Given the description of an element on the screen output the (x, y) to click on. 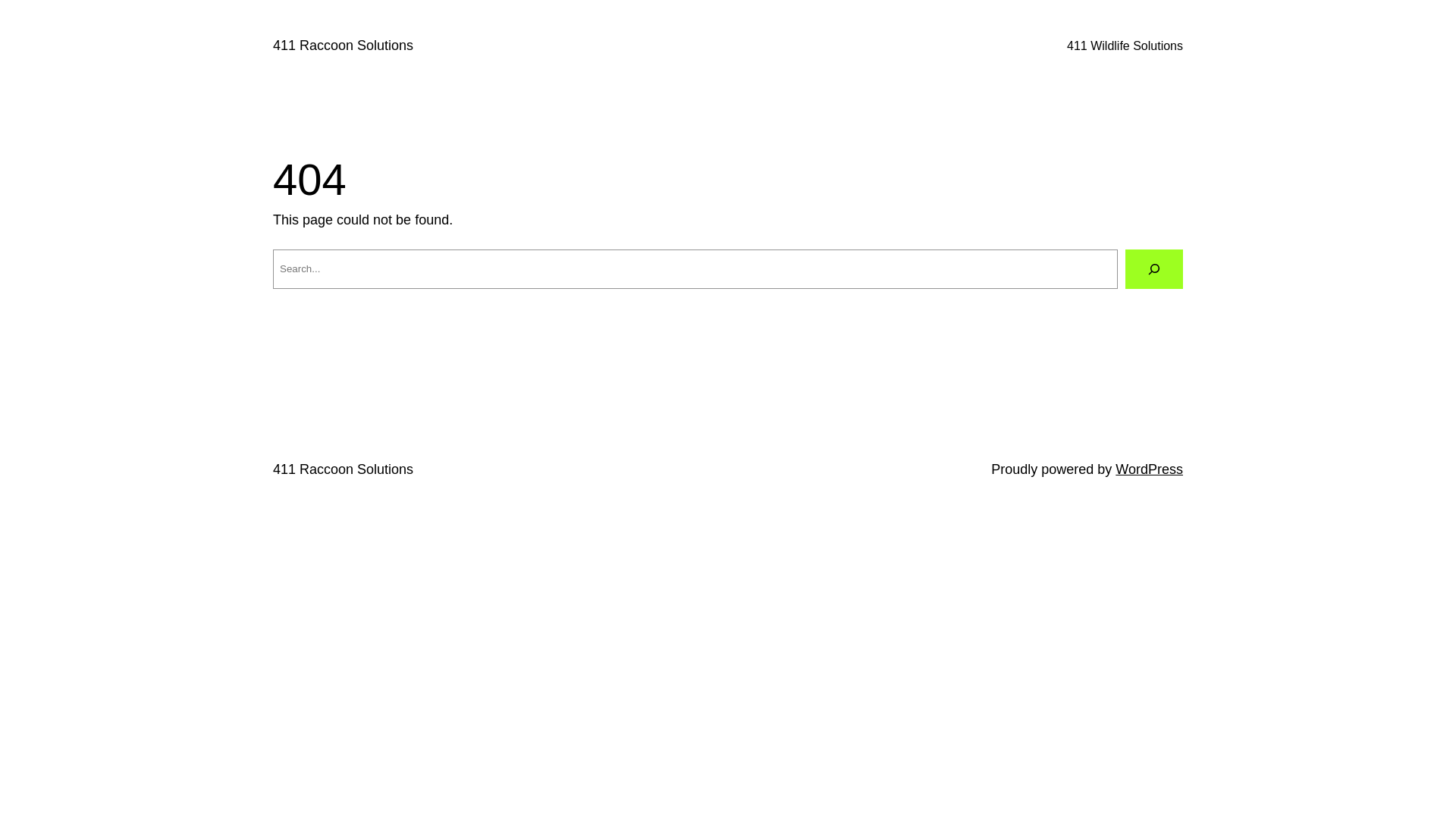
411 Raccoon Solutions Element type: text (343, 468)
411 Wildlife Solutions Element type: text (1124, 46)
WordPress Element type: text (1149, 468)
411 Raccoon Solutions Element type: text (343, 45)
